Given the description of an element on the screen output the (x, y) to click on. 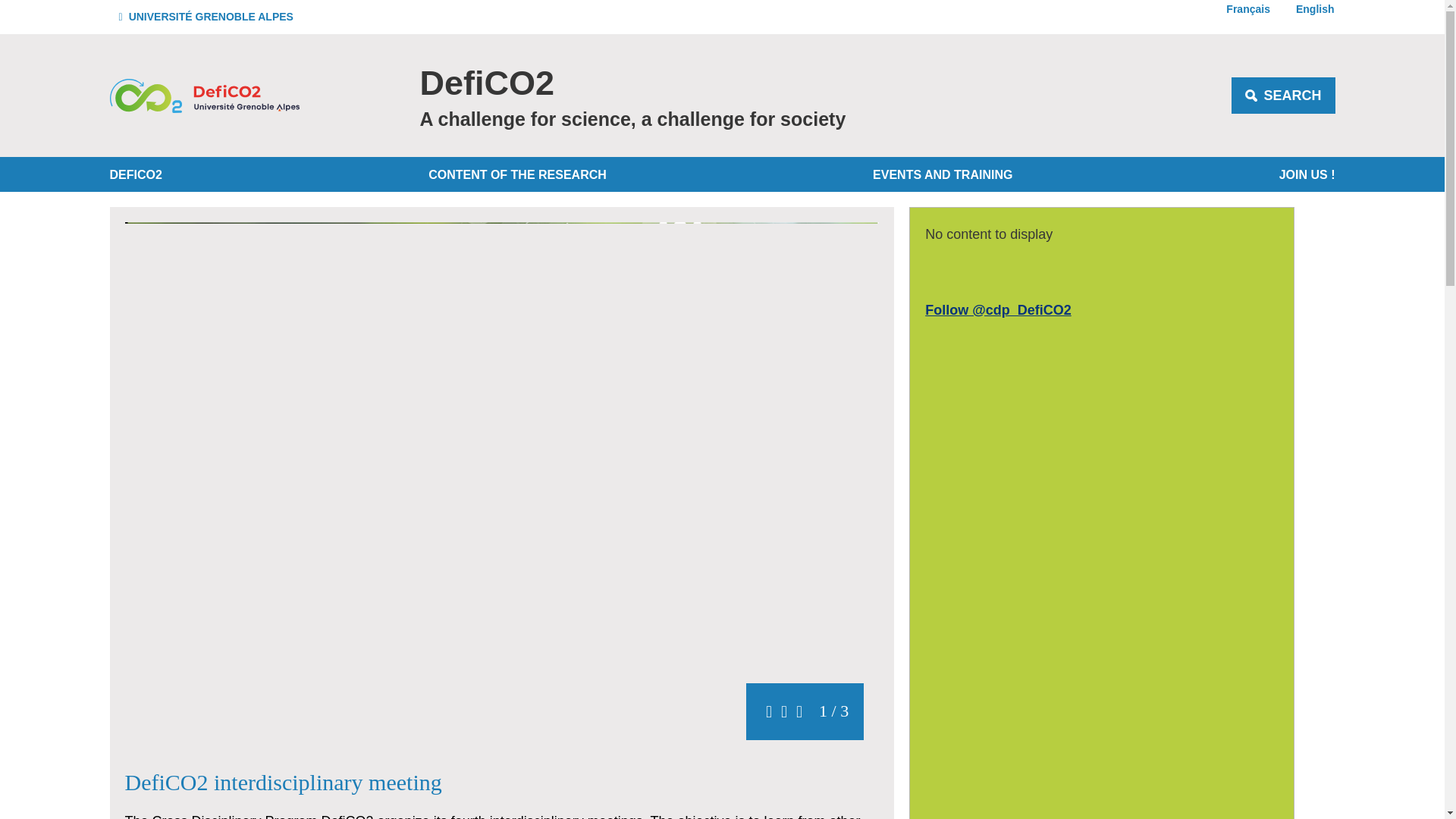
DEFICO2 (138, 173)
SEARCH (1283, 94)
EVENTS AND TRAINING (941, 173)
JOIN US ! (1303, 173)
CONTENT OF THE RESEARCH (517, 173)
English (1308, 12)
Search (1283, 94)
